Given the description of an element on the screen output the (x, y) to click on. 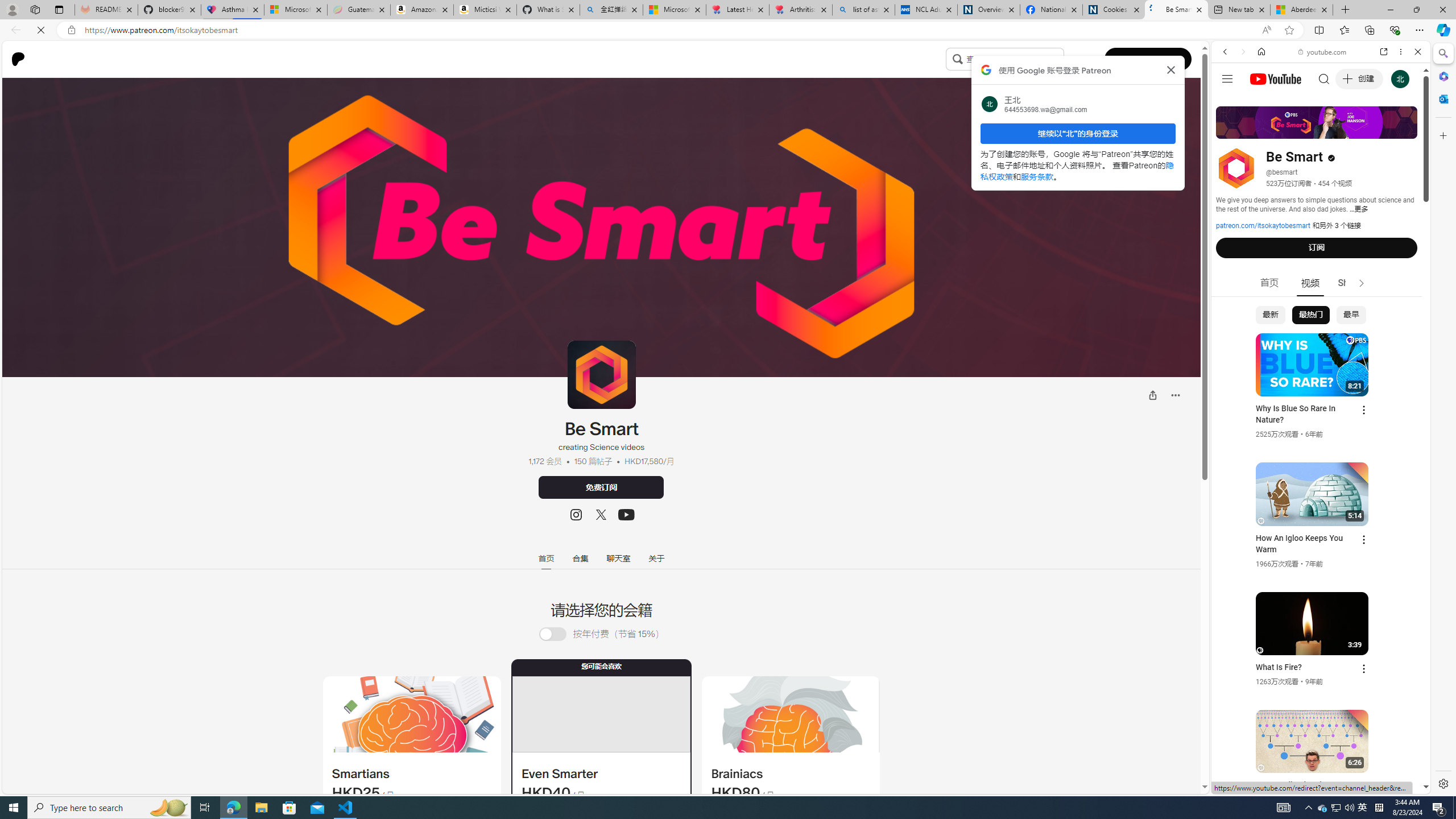
Patreon logo (17, 59)
youtube.com (1322, 51)
